Given the description of an element on the screen output the (x, y) to click on. 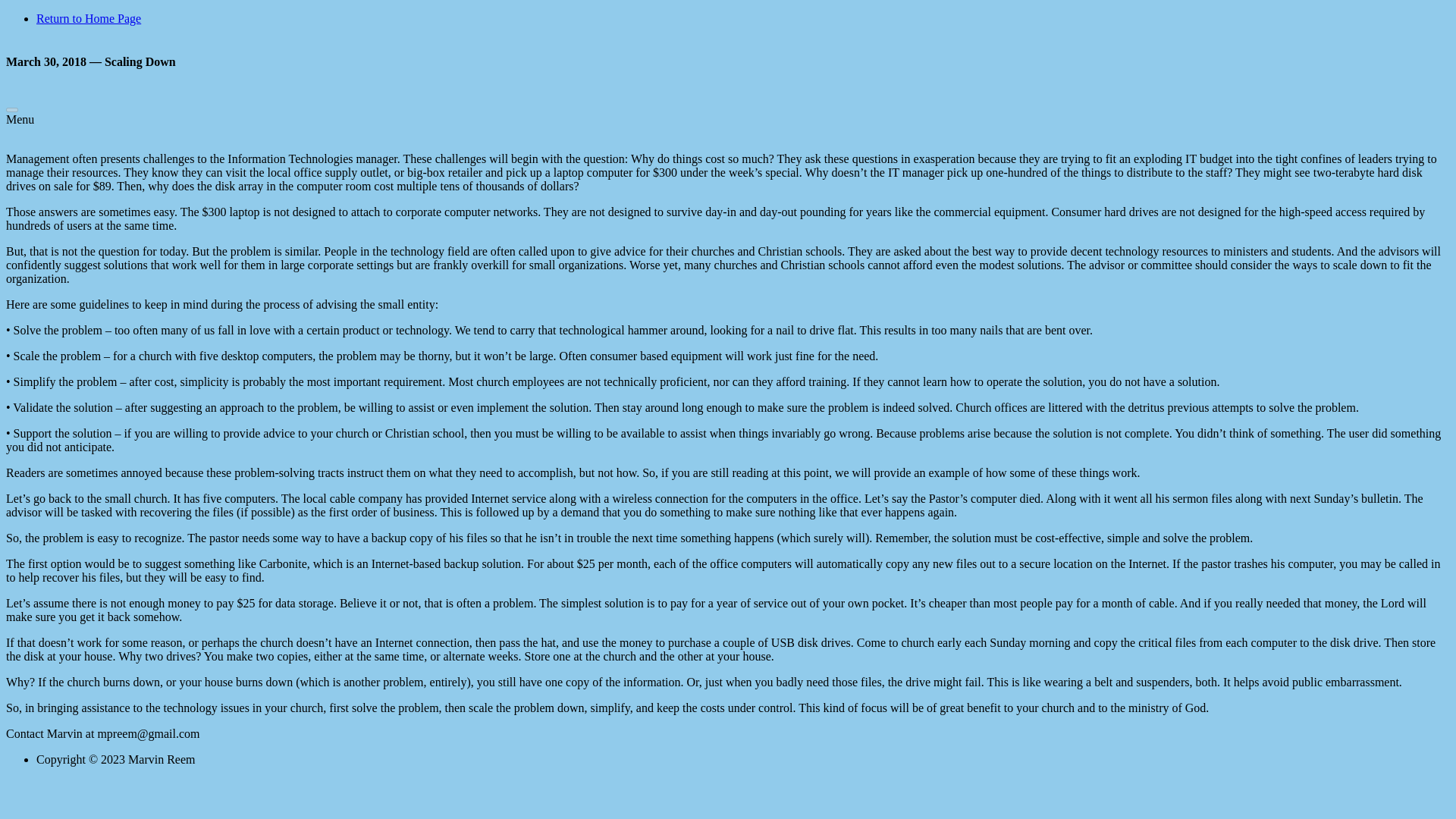
Return to Home Page (88, 18)
